Given the description of an element on the screen output the (x, y) to click on. 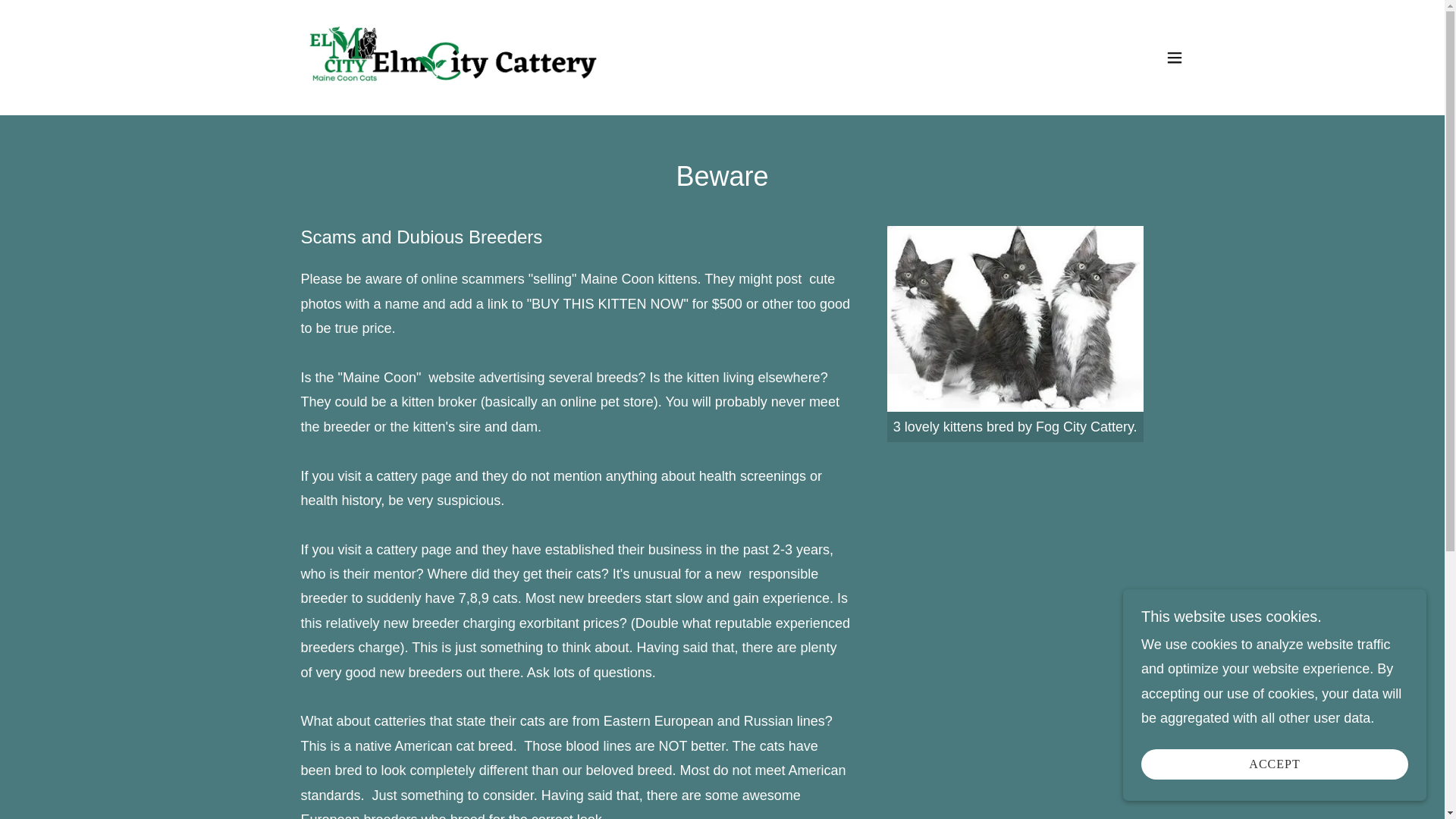
ACCEPT (1274, 764)
Elm City Cattery (451, 56)
